Given the description of an element on the screen output the (x, y) to click on. 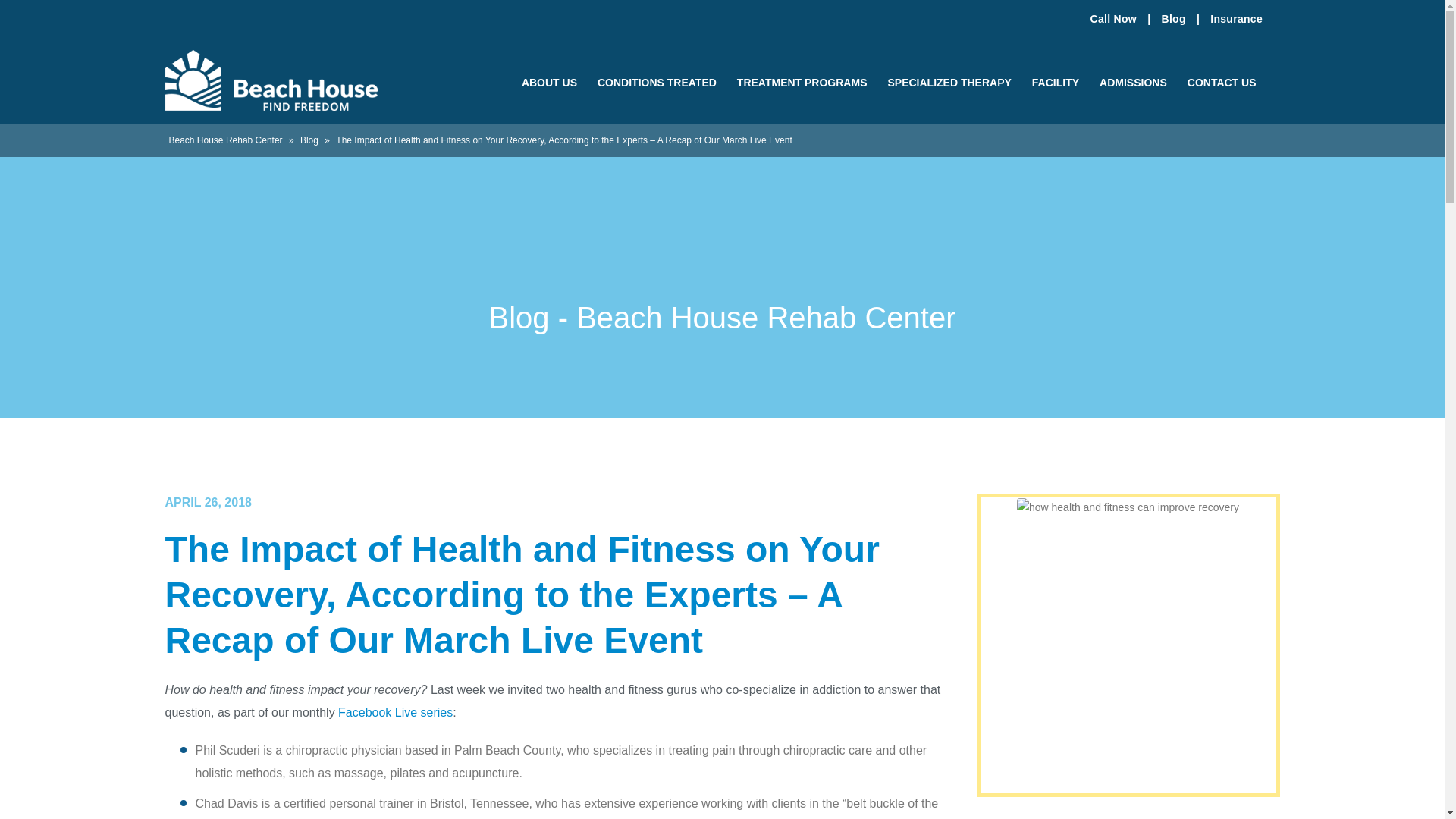
Beach House Rehab Center - Drug Rehab in Florida (271, 79)
CONDITIONS TREATED (662, 82)
TREATMENT PROGRAMS (807, 82)
SPECIALIZED THERAPY (954, 82)
Blog (1173, 19)
Insurance (1235, 19)
Call Now (1113, 19)
ABOUT US (554, 82)
